Given the description of an element on the screen output the (x, y) to click on. 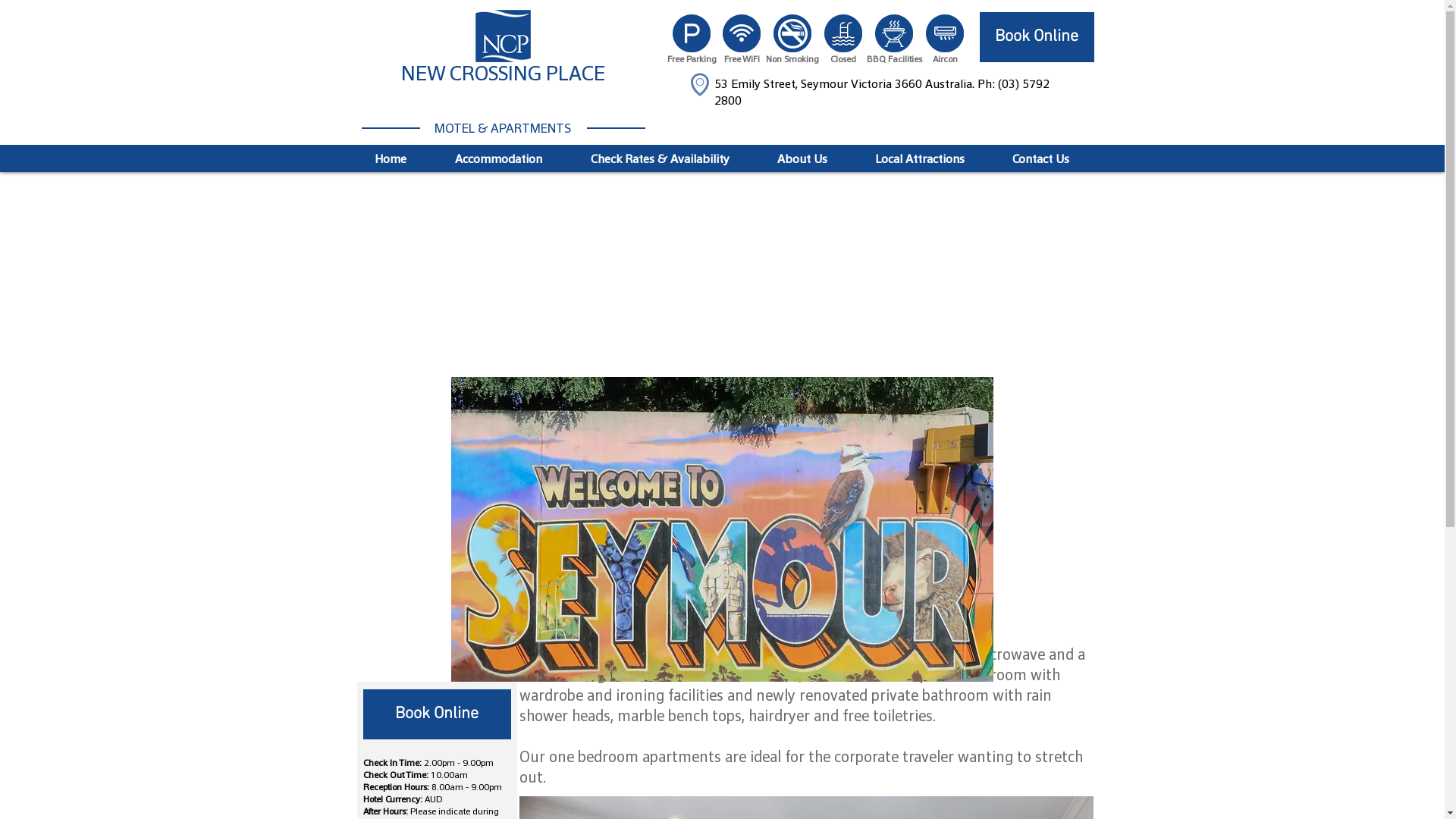
Contact Us Element type: text (1040, 158)
icon_non-smoking-w.png Element type: hover (792, 33)
icon_wifi-w.png Element type: hover (740, 33)
Local Attractions Element type: text (919, 158)
Book Online Element type: text (436, 714)
Accommodation Element type: text (498, 158)
About Us Element type: text (802, 158)
icon_pool-w.png Element type: hover (842, 33)
icon_parking-w.png Element type: hover (690, 33)
Home Element type: text (390, 158)
icon_bbq-w.png Element type: hover (894, 33)
icon_aircon-w.png Element type: hover (944, 33)
Book Online Element type: text (1036, 37)
Check Rates & Availability Element type: text (659, 158)
logo.png Element type: hover (502, 35)
